Given the description of an element on the screen output the (x, y) to click on. 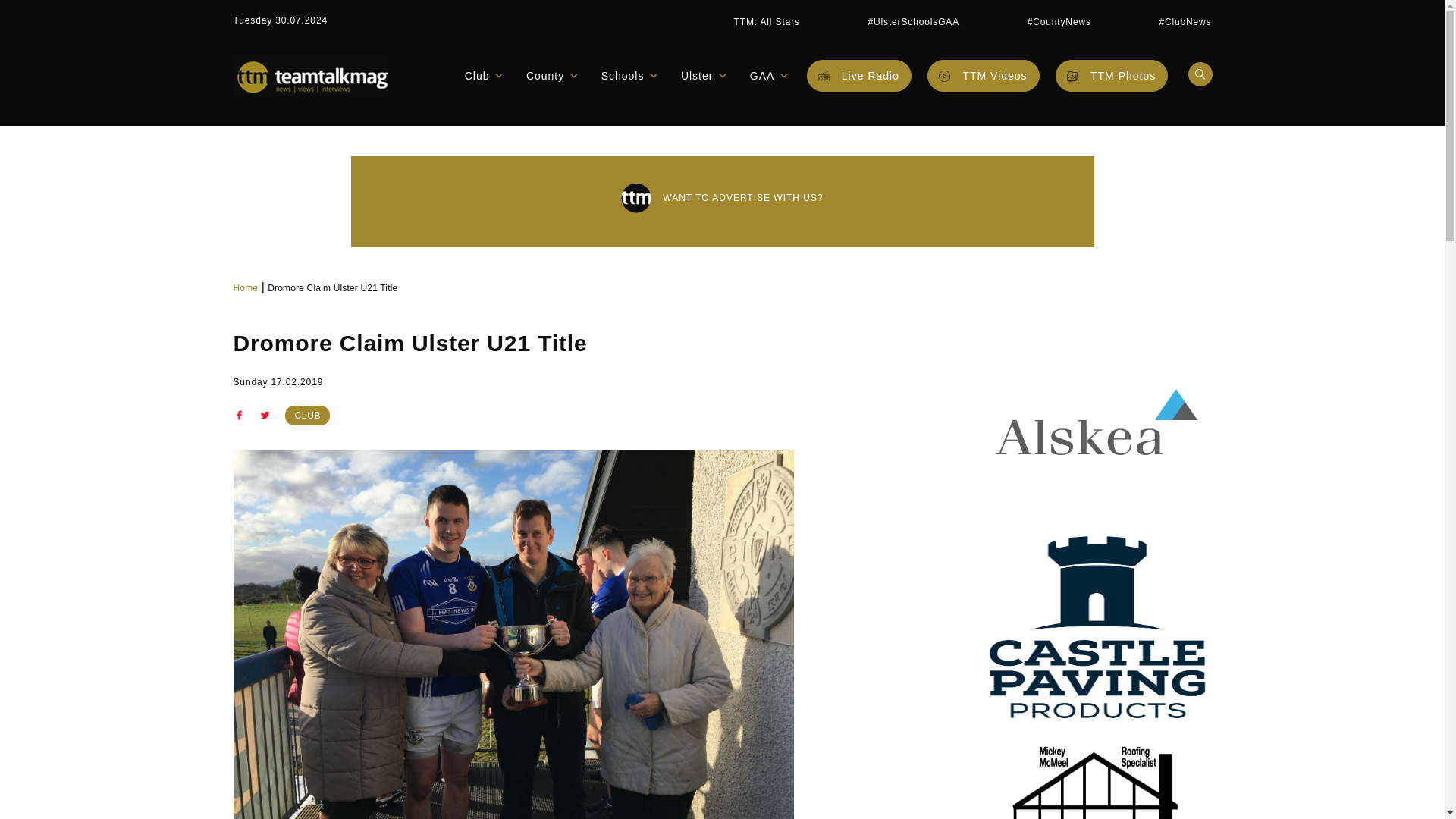
TeamTalk Mag (309, 76)
